Given the description of an element on the screen output the (x, y) to click on. 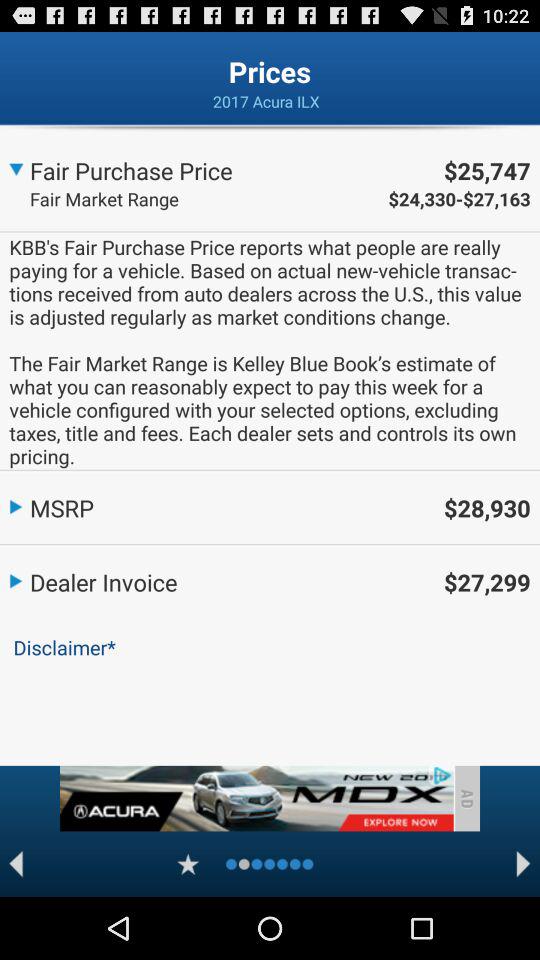
back to previous item (16, 864)
